Given the description of an element on the screen output the (x, y) to click on. 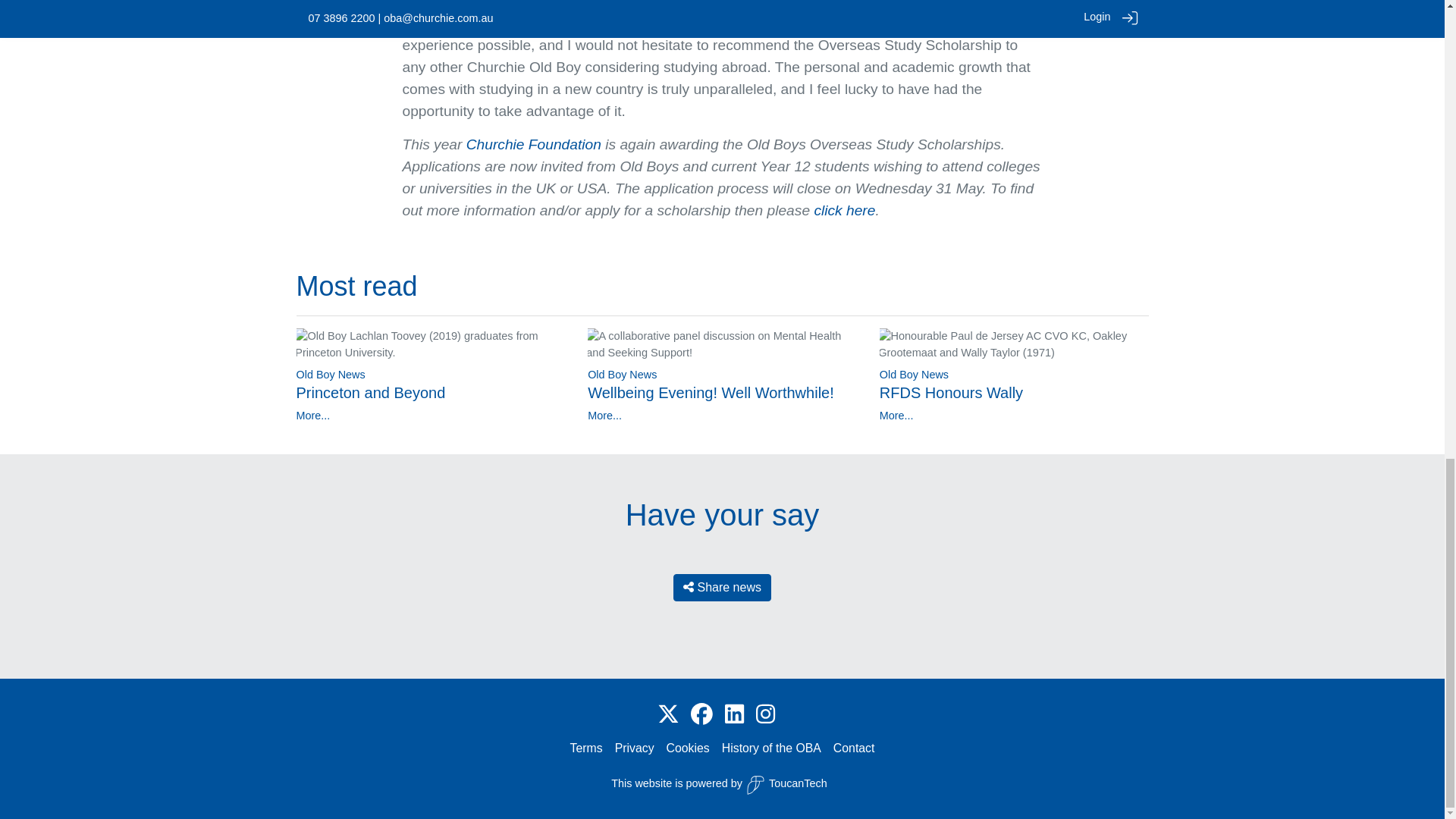
Old Boy News (330, 374)
Twitter (668, 714)
Facebook (701, 714)
click here (844, 210)
Princeton and Beyond (370, 392)
Churchie Foundation (533, 144)
